Given the description of an element on the screen output the (x, y) to click on. 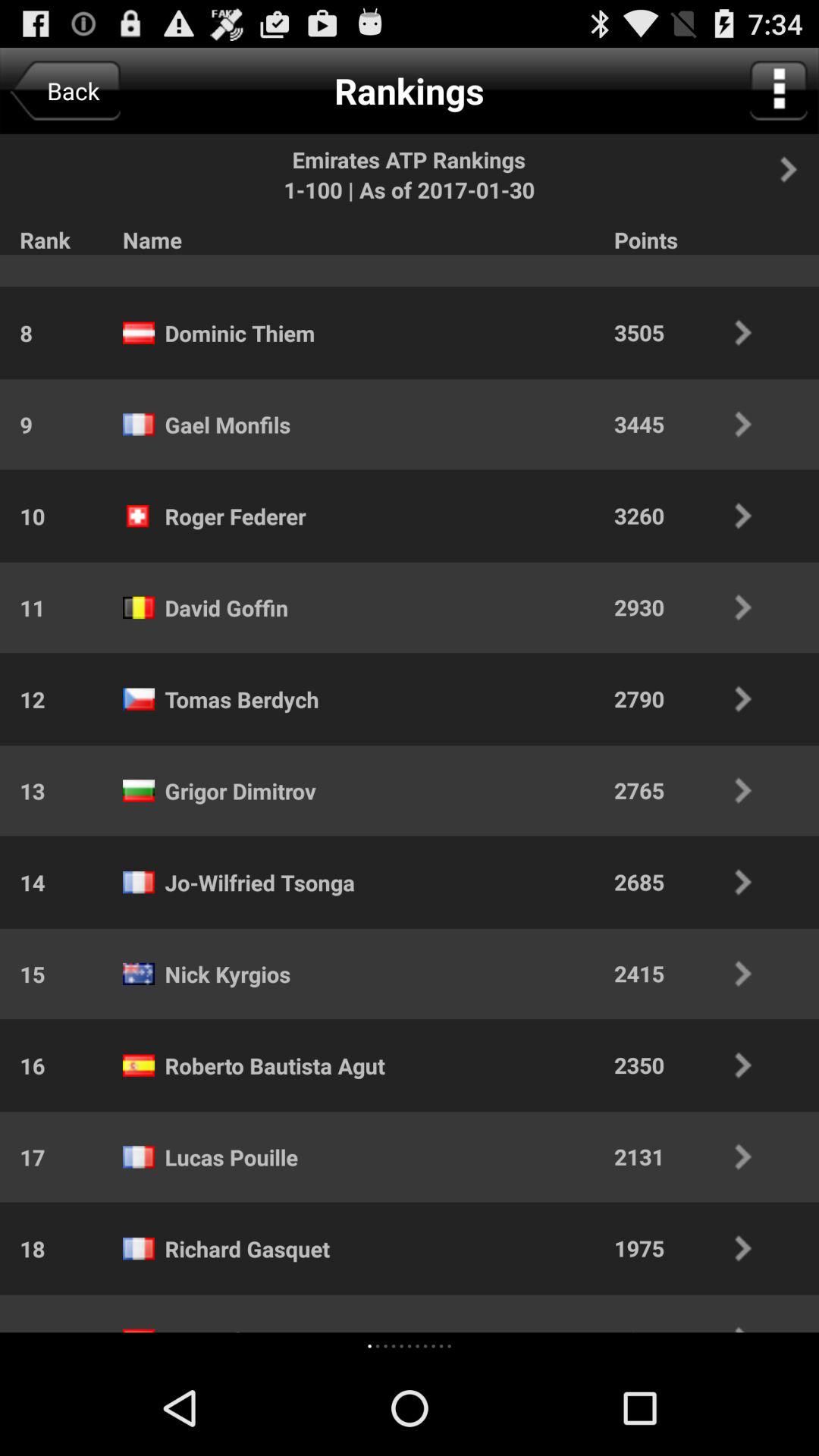
press the item to the right of the jo-wilfried tsonga app (693, 881)
